Given the description of an element on the screen output the (x, y) to click on. 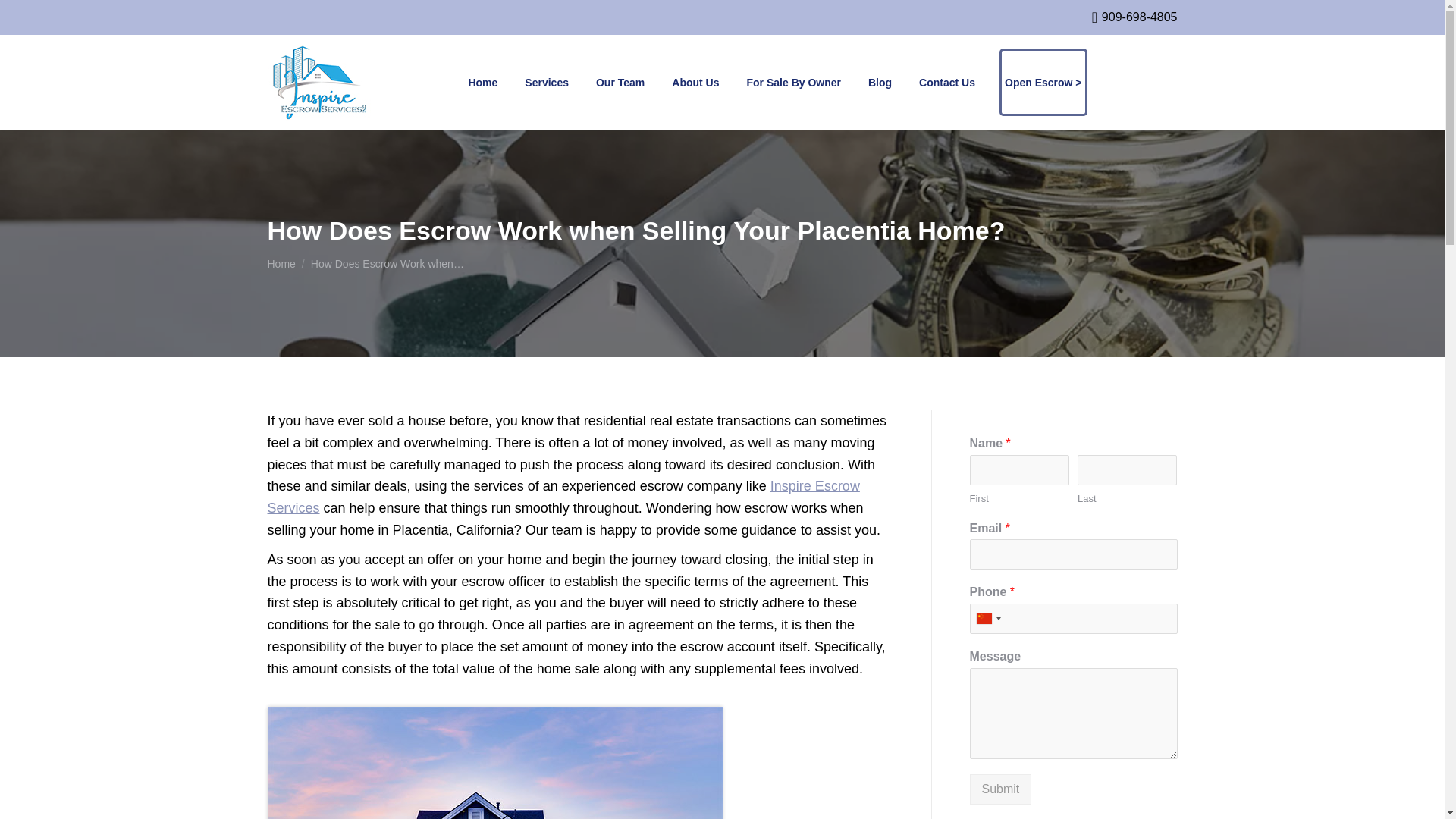
Home (482, 82)
Blog (879, 82)
Contact Us (946, 82)
Services (546, 82)
Our Team (619, 82)
909-698-4805 (1134, 17)
About Us (695, 82)
Home (280, 263)
For Sale By Owner (792, 82)
